Given the description of an element on the screen output the (x, y) to click on. 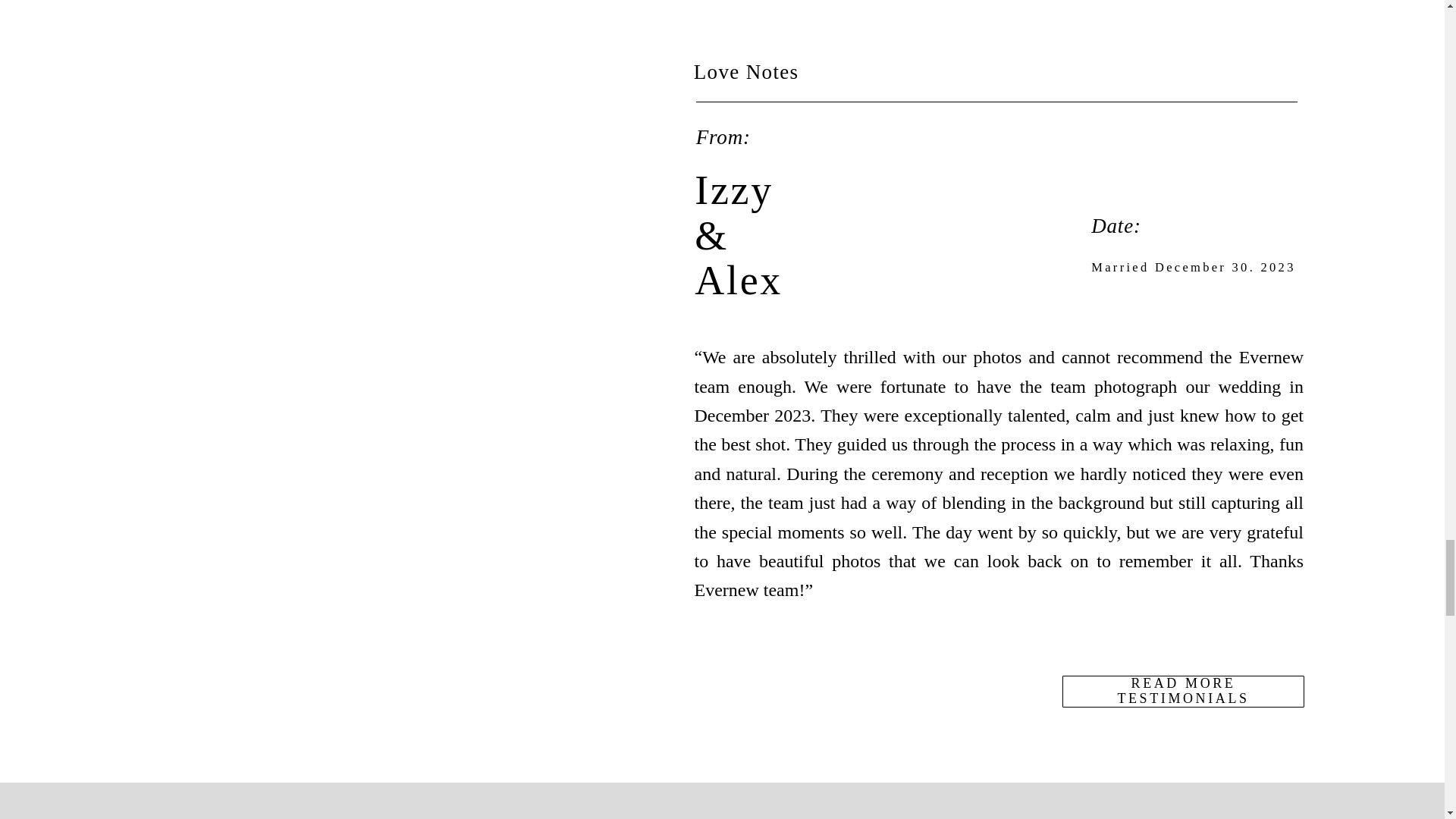
READ MORE TESTIMONIALS (1182, 690)
